Given the description of an element on the screen output the (x, y) to click on. 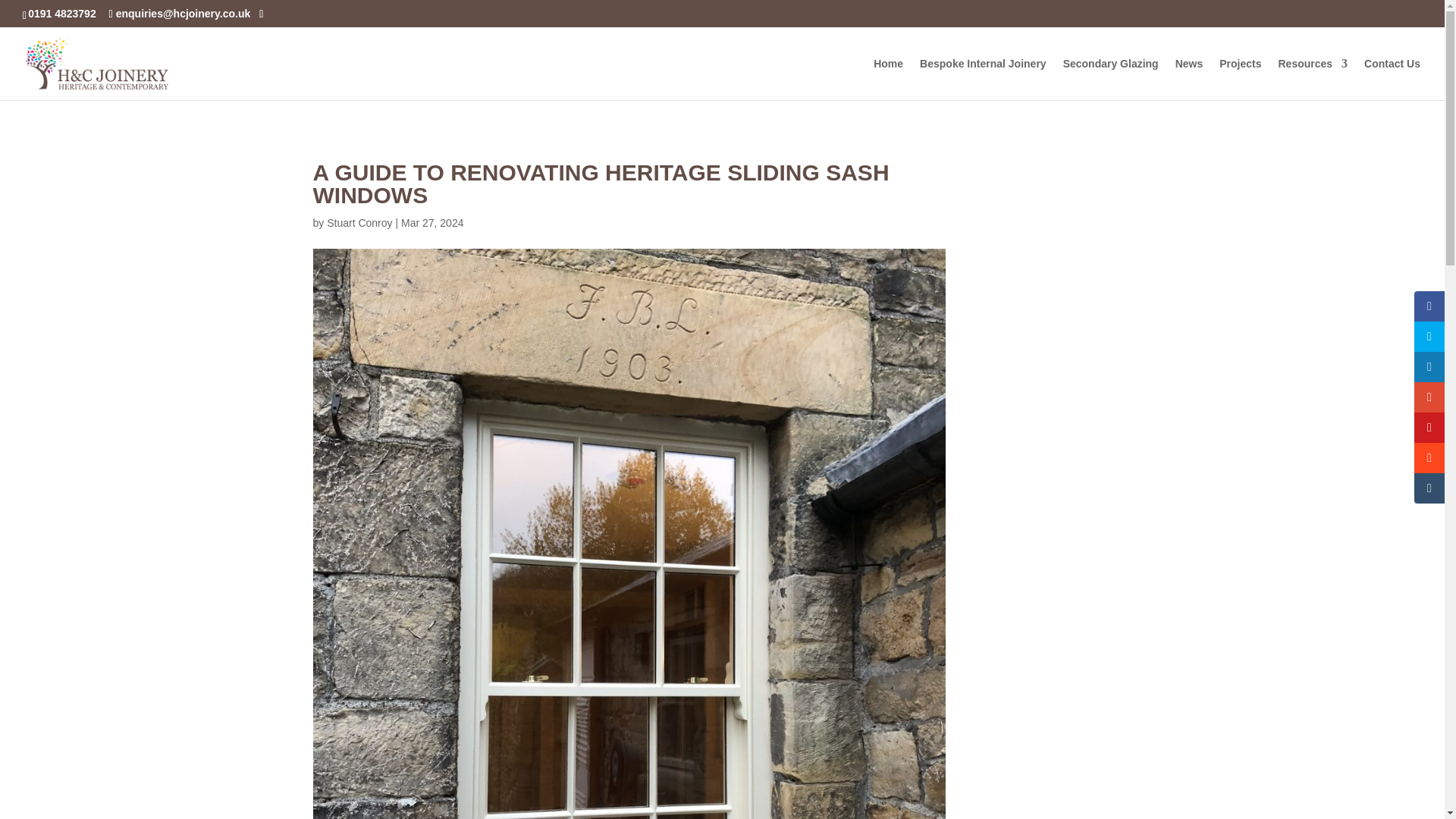
Stuart Conroy (358, 223)
Posts by Stuart Conroy (358, 223)
Bespoke Internal Joinery (983, 78)
Contact Us (1392, 78)
Projects (1240, 78)
0191 4823792 (64, 13)
Secondary Glazing (1110, 78)
Resources (1313, 78)
